Given the description of an element on the screen output the (x, y) to click on. 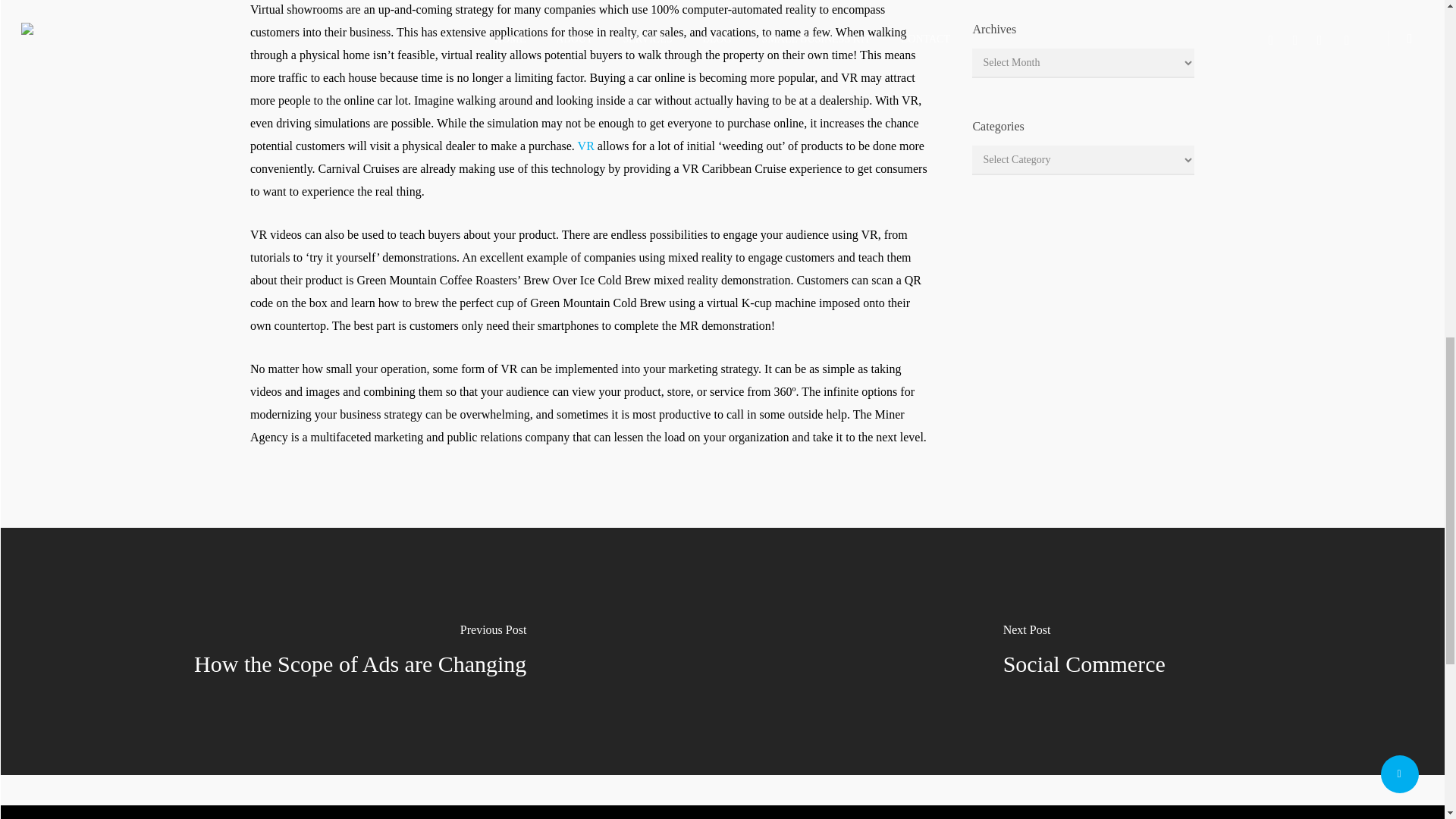
VR (586, 145)
